Given the description of an element on the screen output the (x, y) to click on. 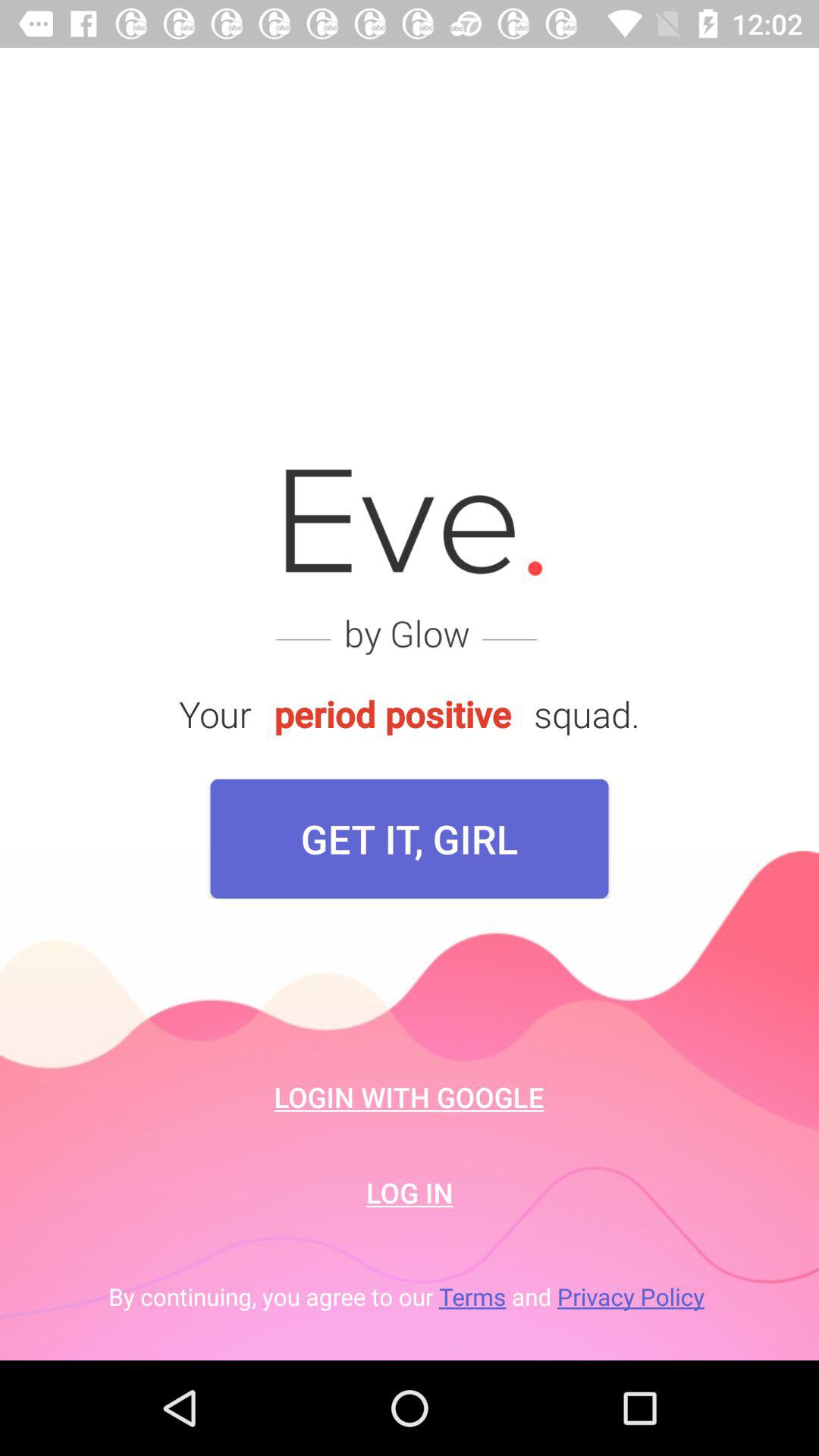
select the item above the  login with google  icon (409, 838)
